Given the description of an element on the screen output the (x, y) to click on. 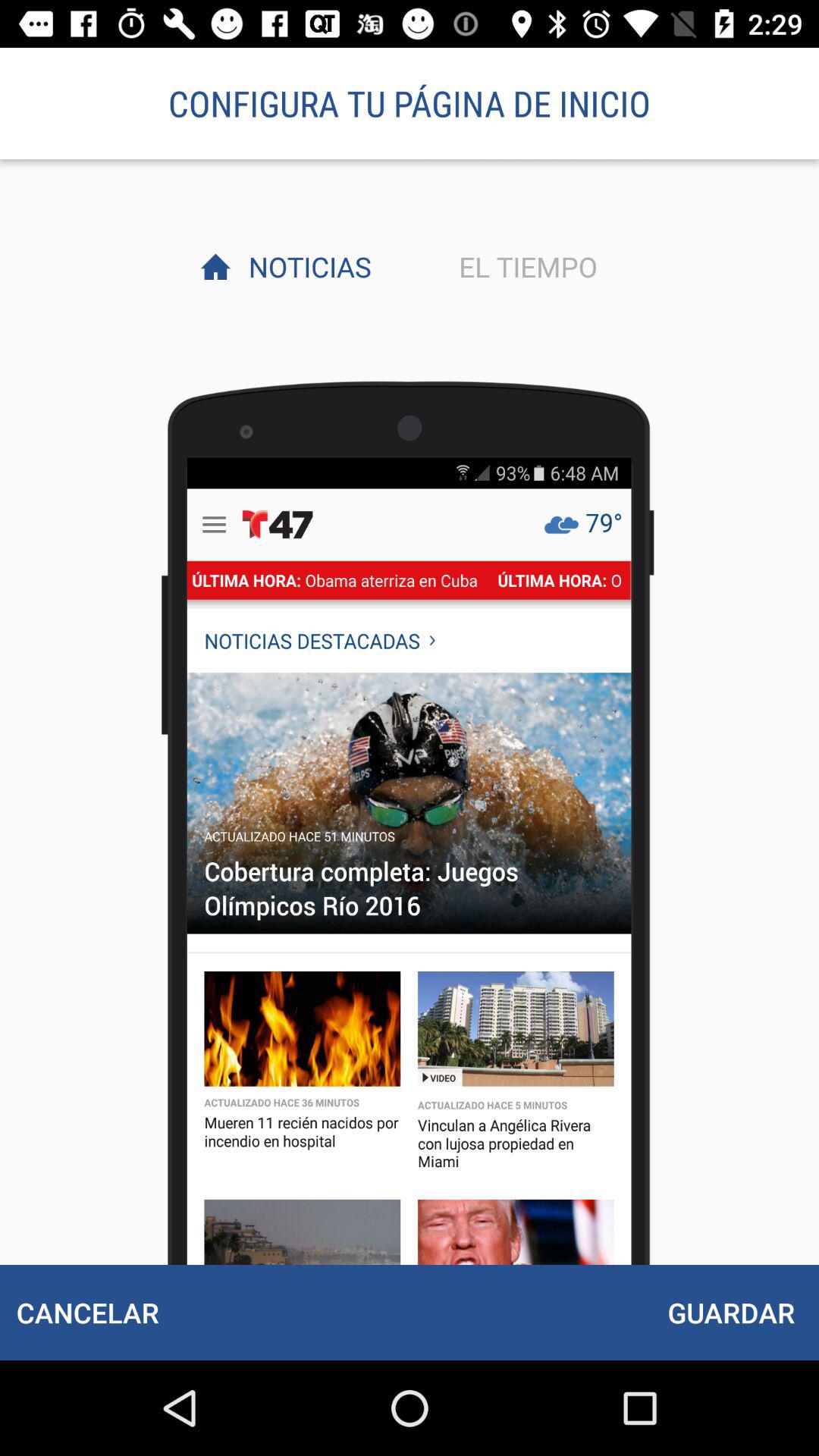
click el tiempo item (524, 266)
